Given the description of an element on the screen output the (x, y) to click on. 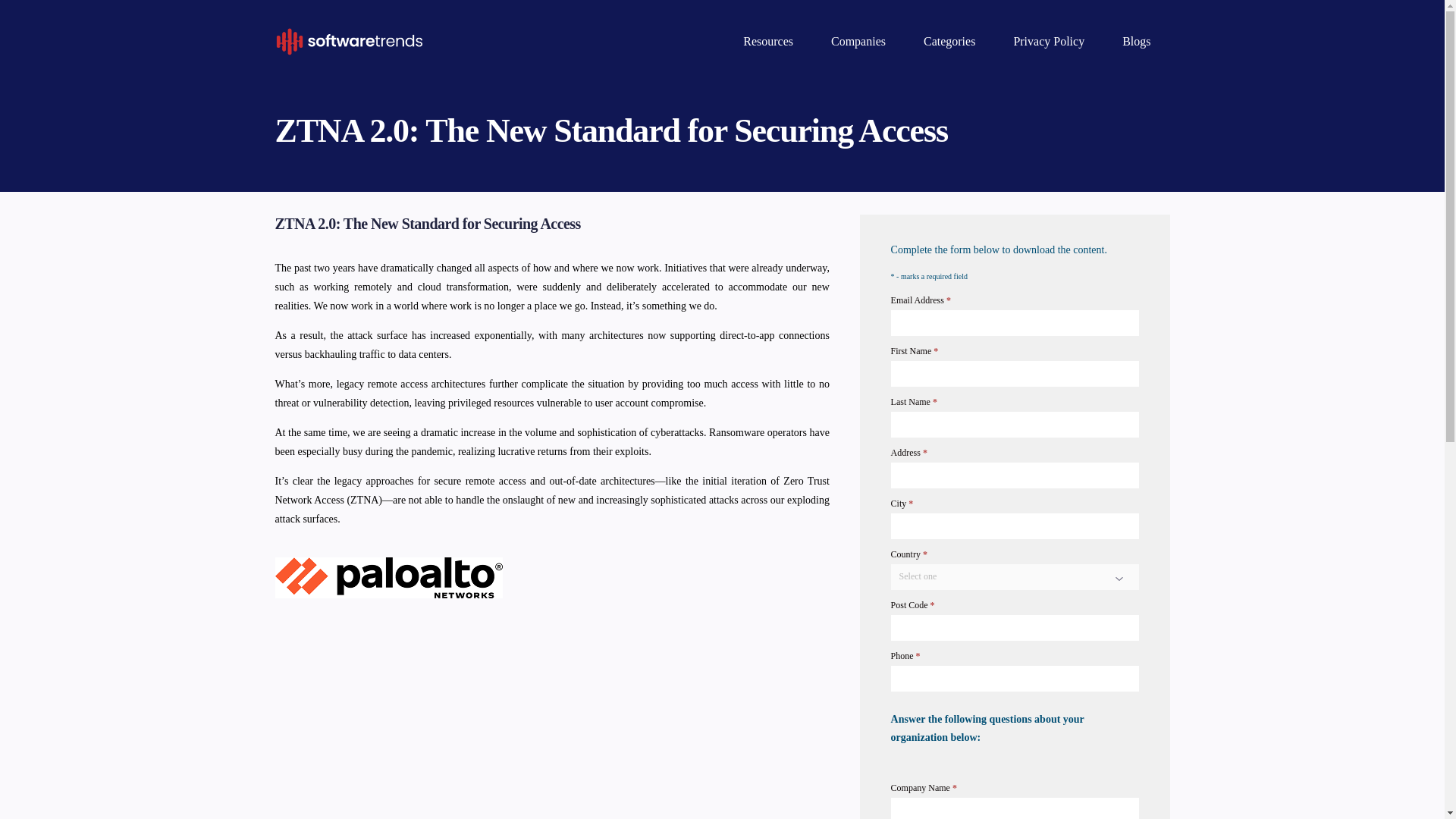
Categories (949, 41)
Resources (767, 41)
Companies (858, 41)
Privacy Policy (1048, 41)
